Given the description of an element on the screen output the (x, y) to click on. 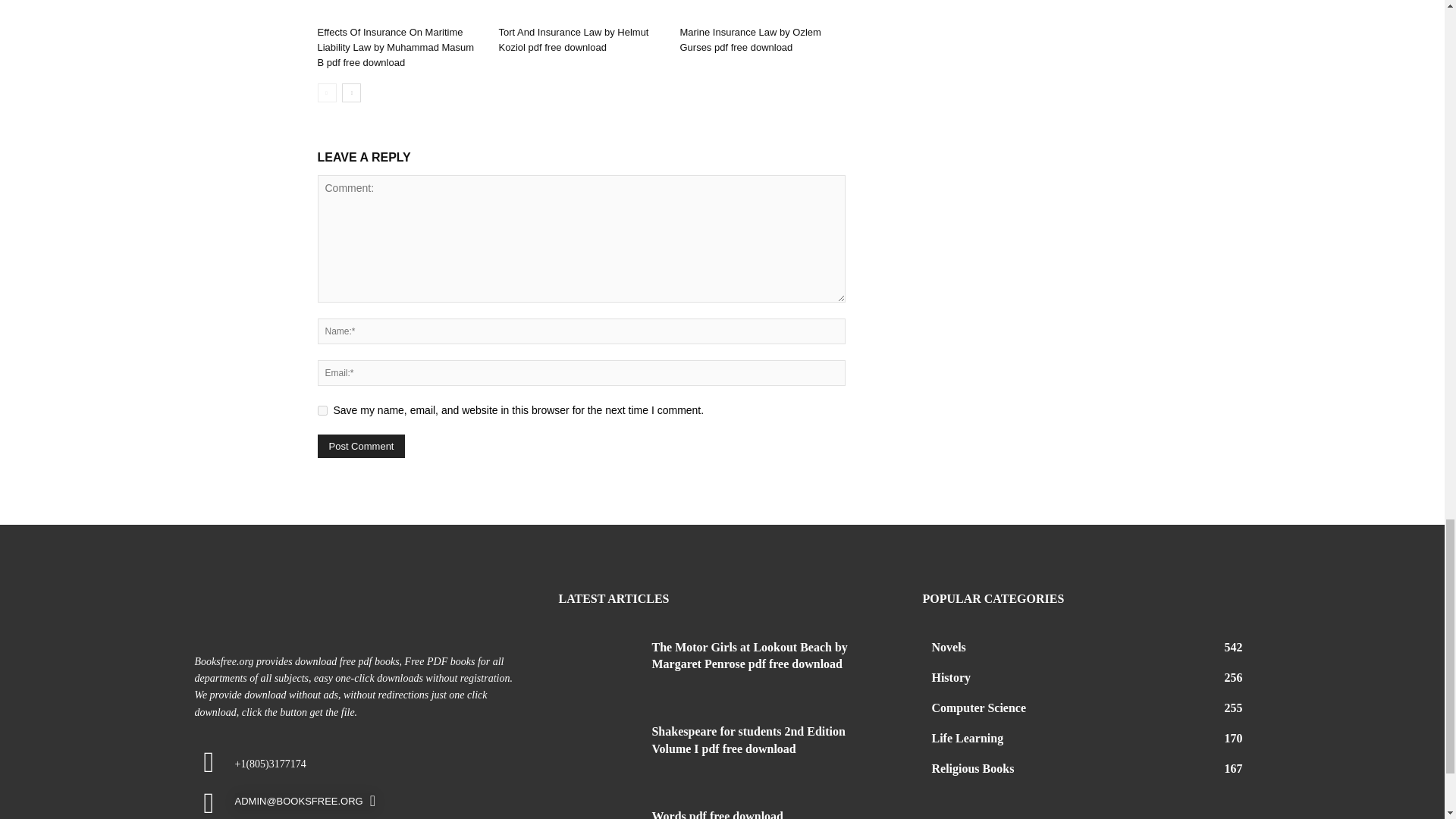
Post Comment (360, 445)
yes (321, 410)
